Given the description of an element on the screen output the (x, y) to click on. 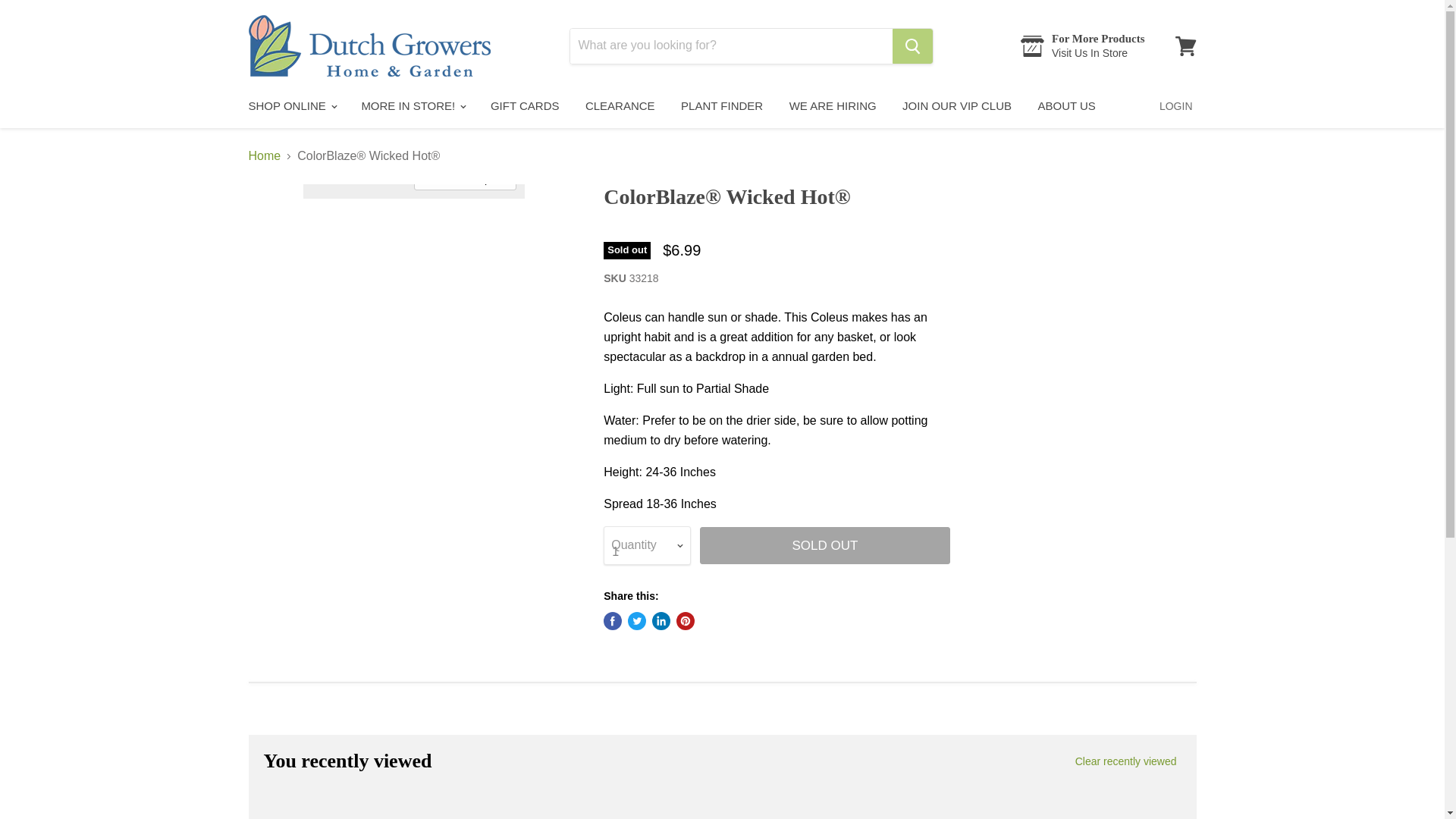
SHOP ONLINE (290, 106)
View cart (1185, 45)
